Given the description of an element on the screen output the (x, y) to click on. 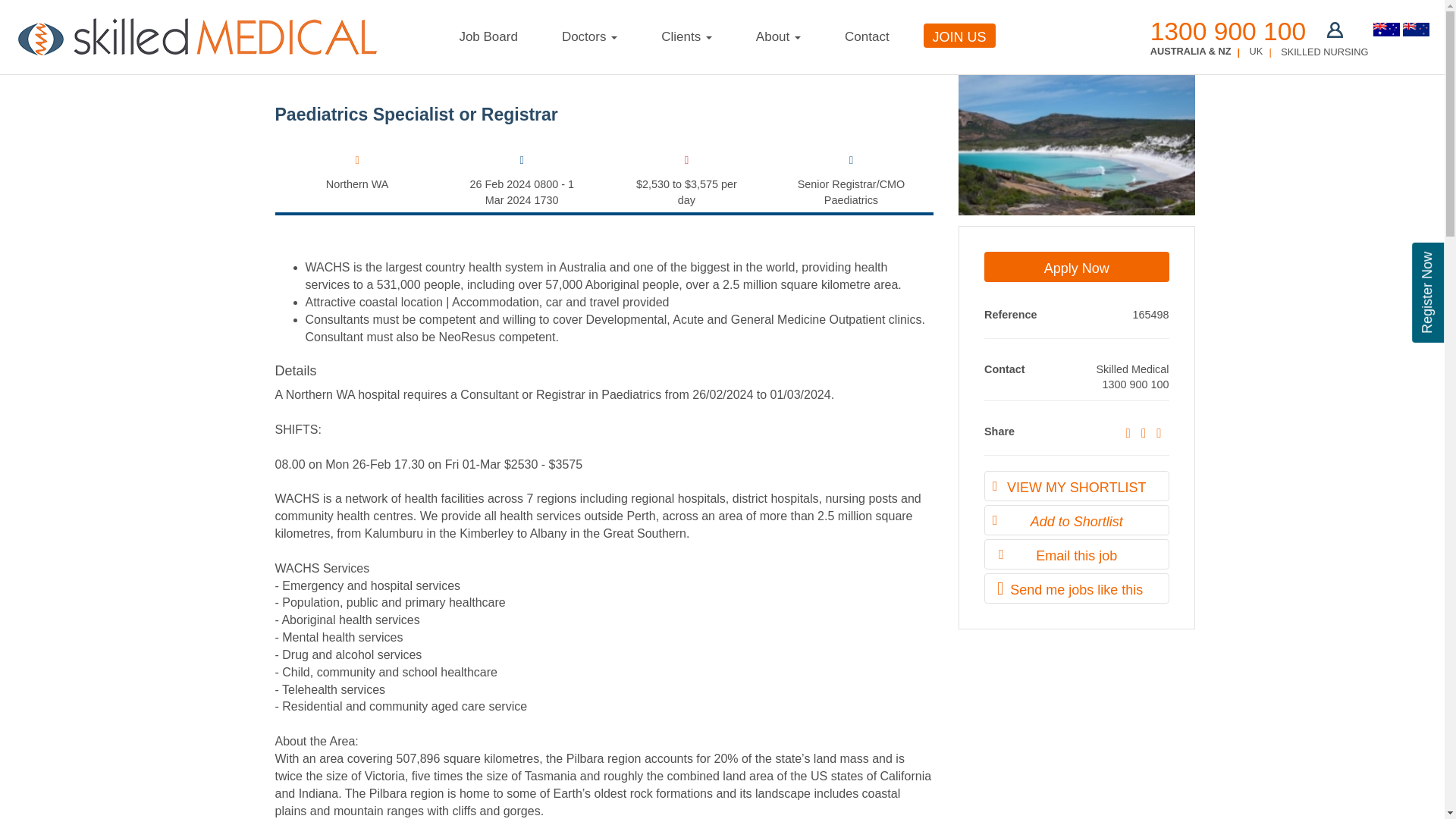
About (777, 37)
SKILLED NURSING (1324, 51)
Doctors (589, 37)
Contact (866, 37)
JOIN US (959, 35)
Clients (686, 37)
UK (1256, 50)
Job Board (488, 37)
Apply Now (1076, 266)
